Given the description of an element on the screen output the (x, y) to click on. 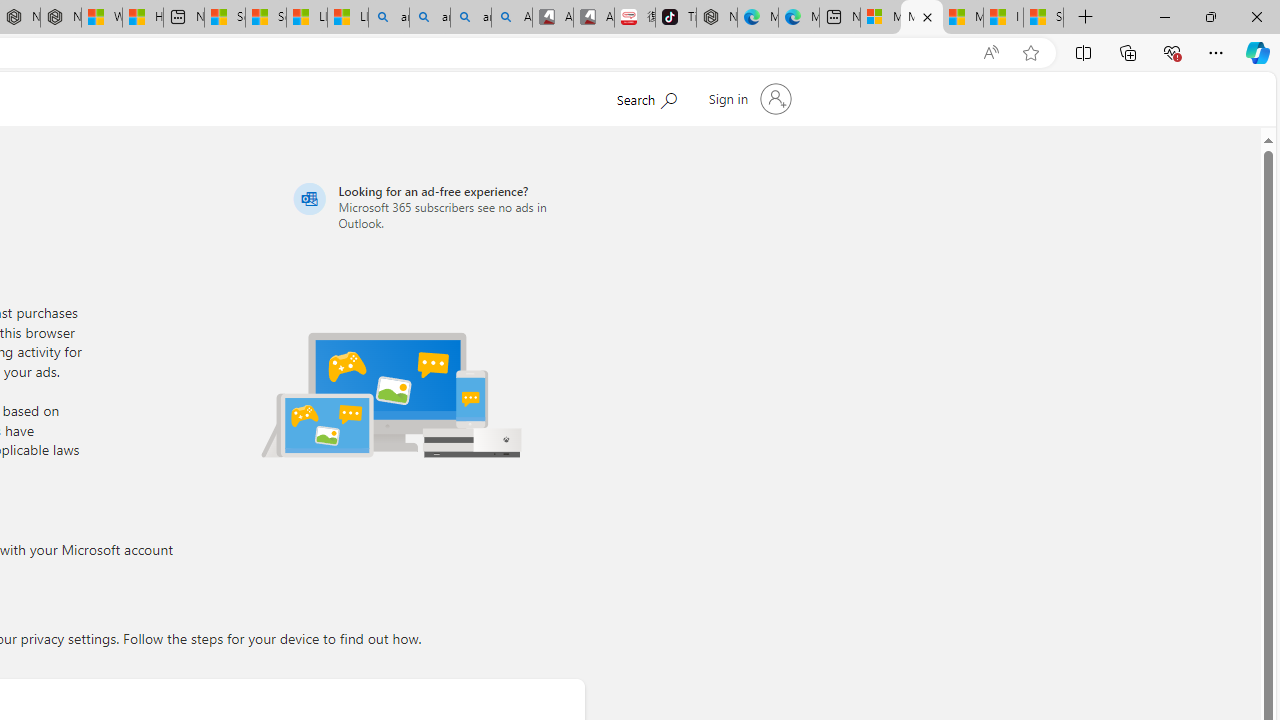
Looking for an ad-free experience? (436, 206)
TikTok (675, 17)
I Gained 20 Pounds of Muscle in 30 Days! | Watch (1003, 17)
Huge shark washes ashore at New York City beach | Watch (142, 17)
amazon - Search (429, 17)
Microsoft account | Privacy (922, 17)
Illustration of multiple devices (391, 394)
